Given the description of an element on the screen output the (x, y) to click on. 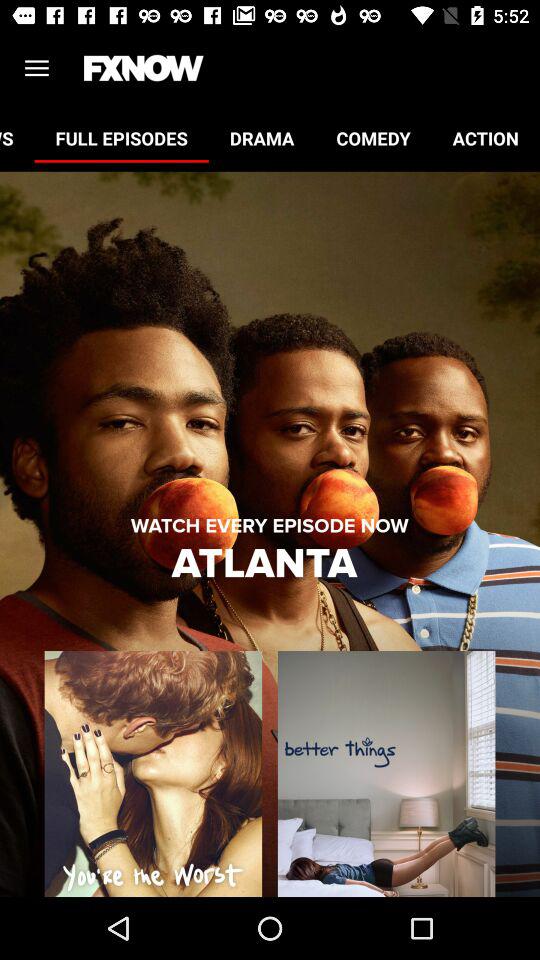
click icon next to the action icon (373, 138)
